Given the description of an element on the screen output the (x, y) to click on. 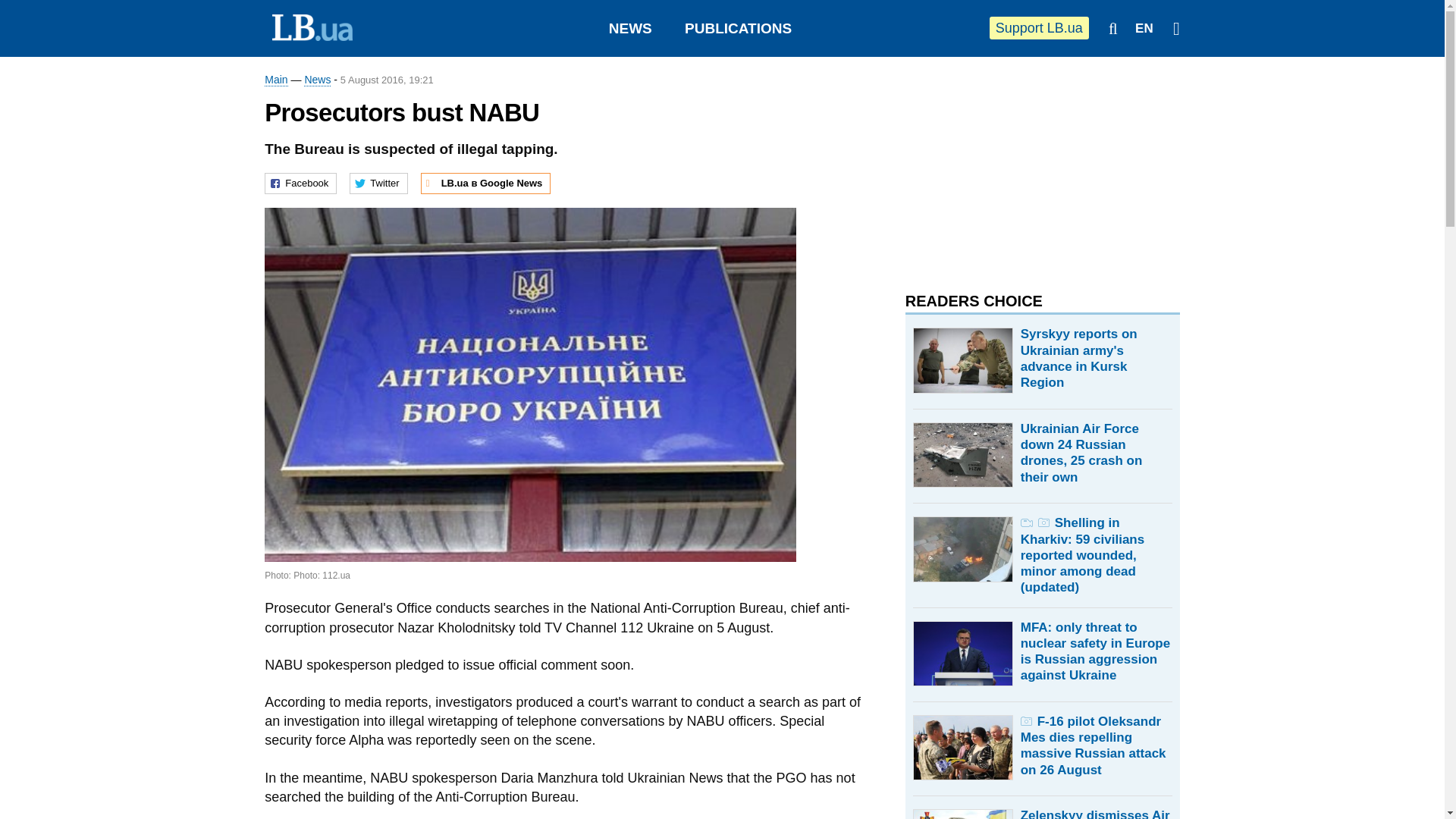
EN (1144, 28)
NEWS (630, 28)
Support LB.ua (1039, 27)
Main (275, 79)
Advertisement (1018, 166)
PUBLICATIONS (738, 28)
News (317, 79)
